Given the description of an element on the screen output the (x, y) to click on. 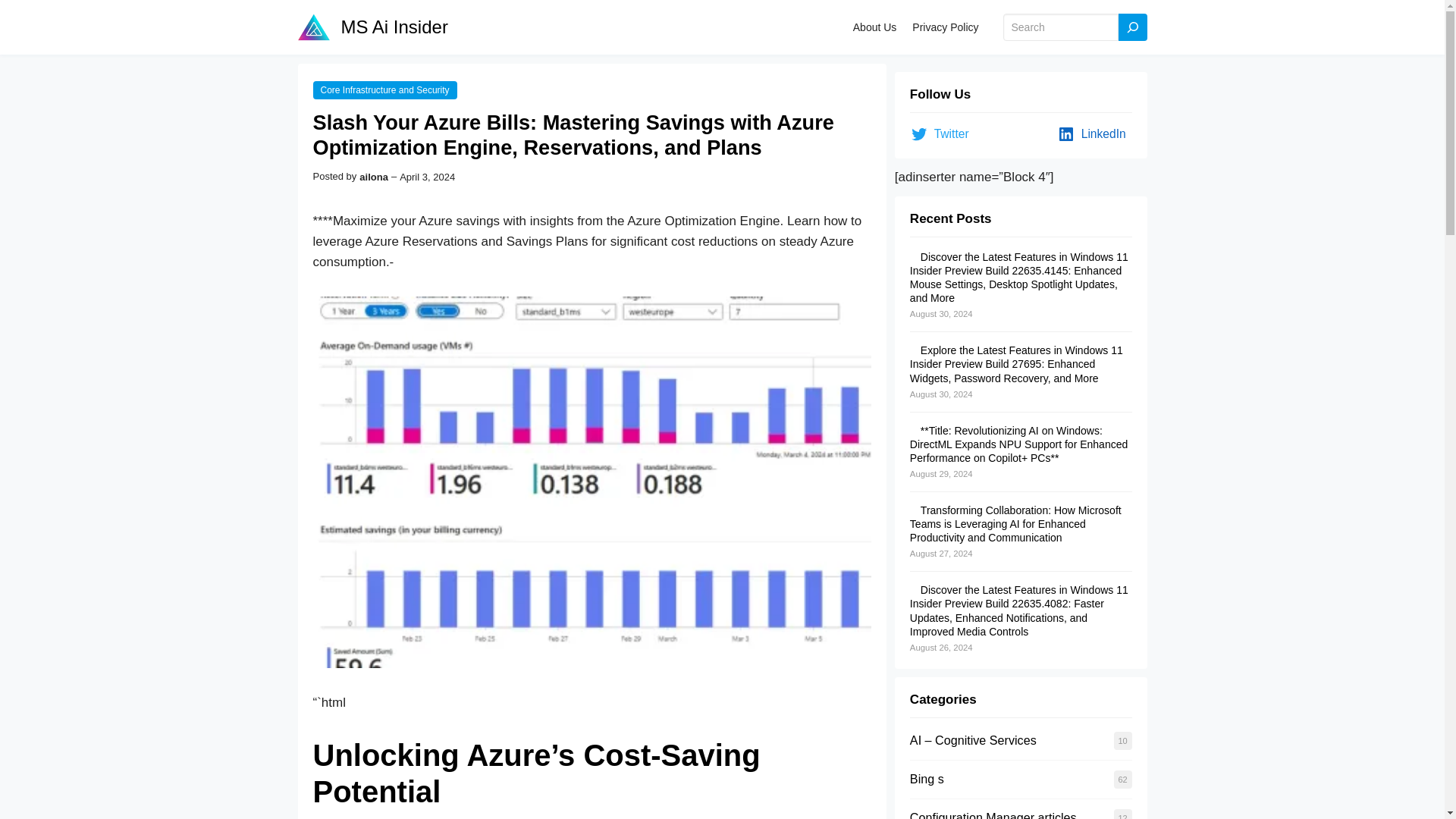
Privacy Policy (945, 27)
LinkedIn (1094, 134)
Twitter (942, 134)
MS Ai Insider (394, 26)
Bing s (926, 778)
Core Infrastructure and Security (385, 90)
